Given the description of an element on the screen output the (x, y) to click on. 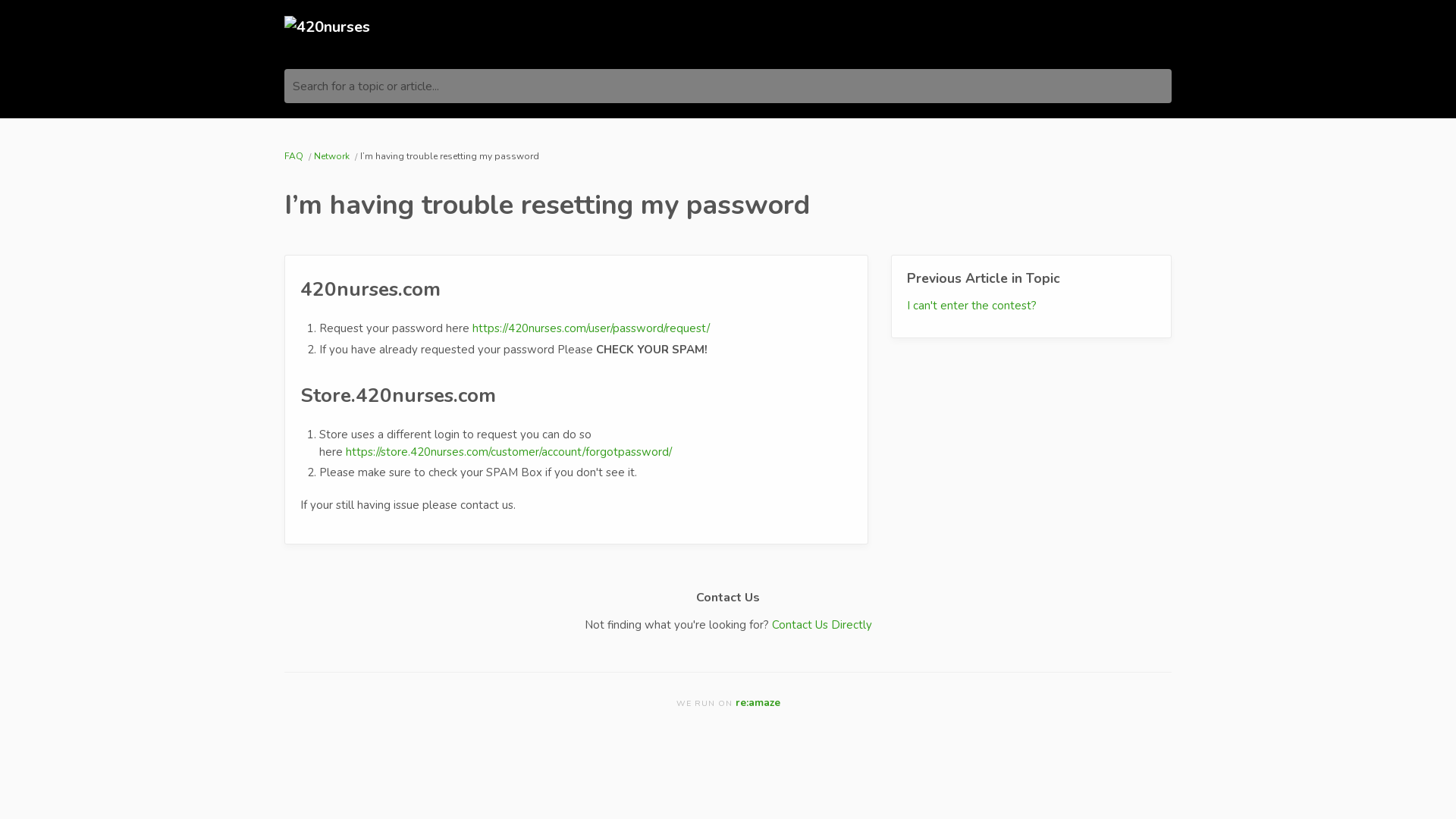
I can't enter the contest? Element type: text (971, 305)
https://420nurses.com/user/password/request/ Element type: text (590, 327)
https://store.420nurses.com/customer/account/forgotpassword/ Element type: text (508, 451)
re:amaze Element type: text (757, 702)
Contact Us Directly Element type: text (821, 624)
Network Element type: text (332, 156)
FAQ Element type: text (294, 156)
